Given the description of an element on the screen output the (x, y) to click on. 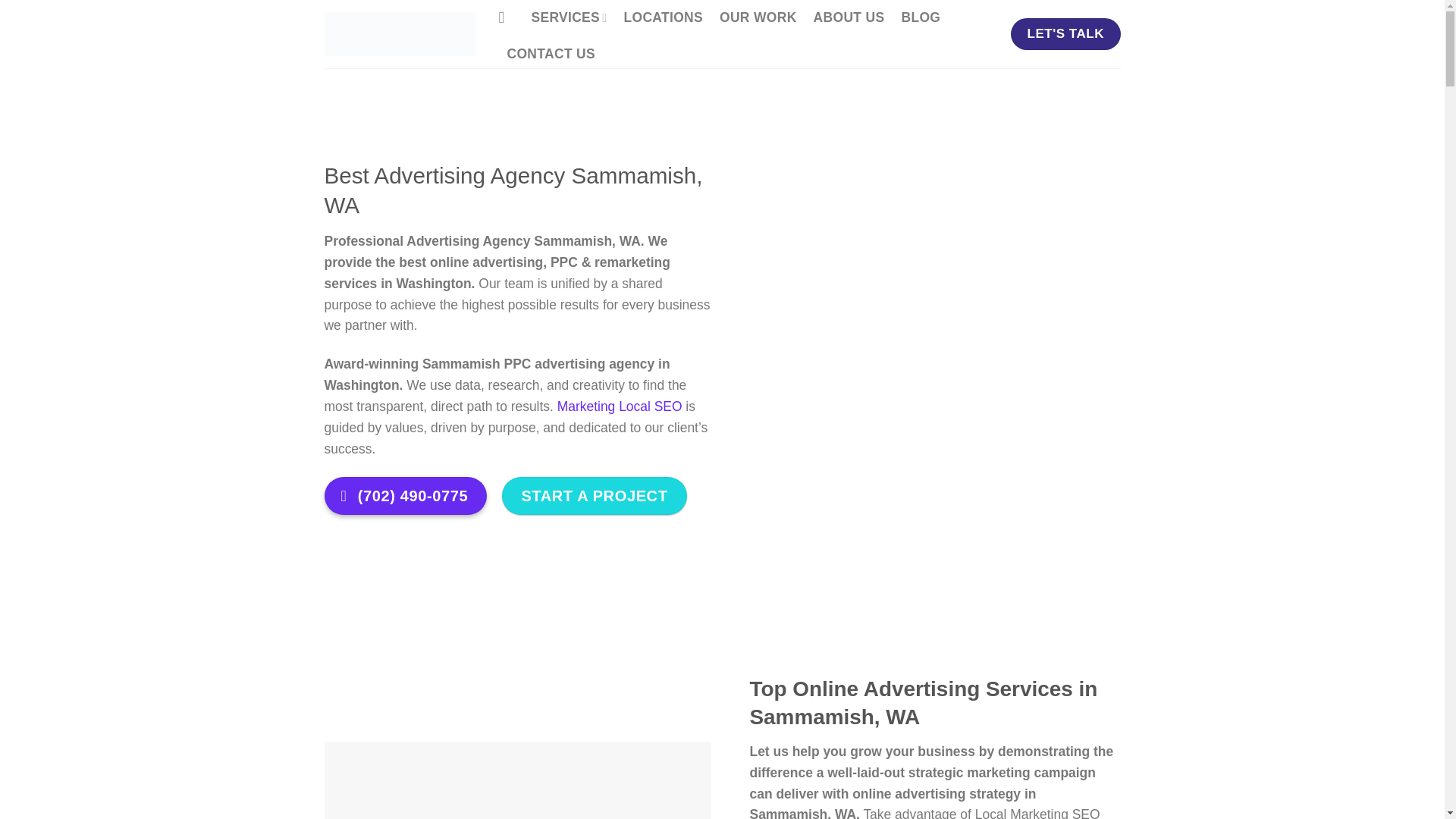
BLOG (920, 18)
CONTACT US (550, 54)
LOCATIONS (663, 18)
OUR WORK (757, 18)
ABOUT US (849, 18)
LET'S TALK (1064, 34)
Marketing Local SEO - Local SEO Services (400, 34)
START A PROJECT (593, 495)
Marketing Local SEO (619, 406)
SERVICES (569, 18)
